Given the description of an element on the screen output the (x, y) to click on. 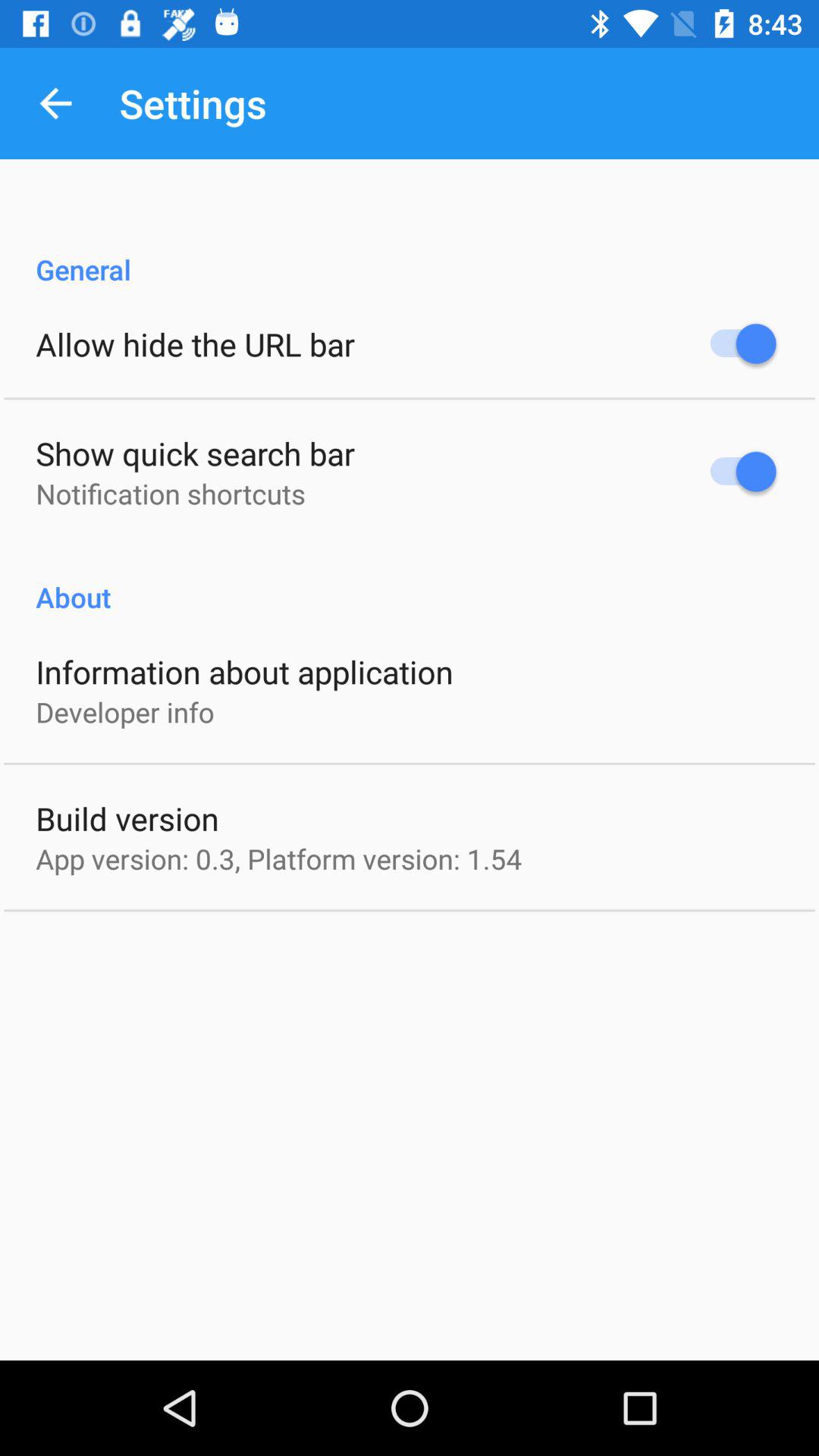
turn off icon below information about application (124, 711)
